Given the description of an element on the screen output the (x, y) to click on. 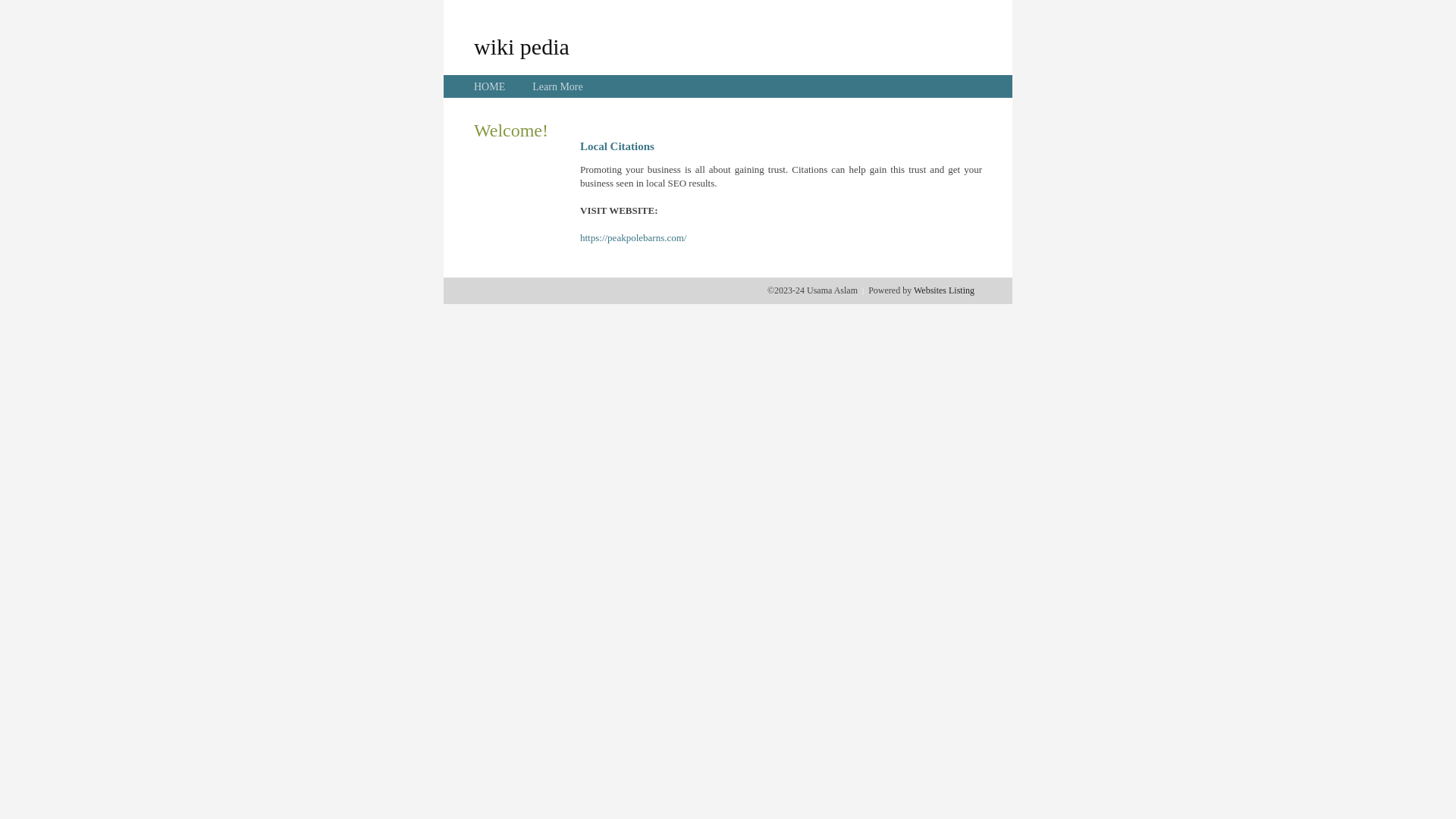
https://peakpolebarns.com/ Element type: text (633, 237)
Learn More Element type: text (557, 86)
Websites Listing Element type: text (943, 290)
HOME Element type: text (489, 86)
wiki pedia Element type: text (521, 46)
